Given the description of an element on the screen output the (x, y) to click on. 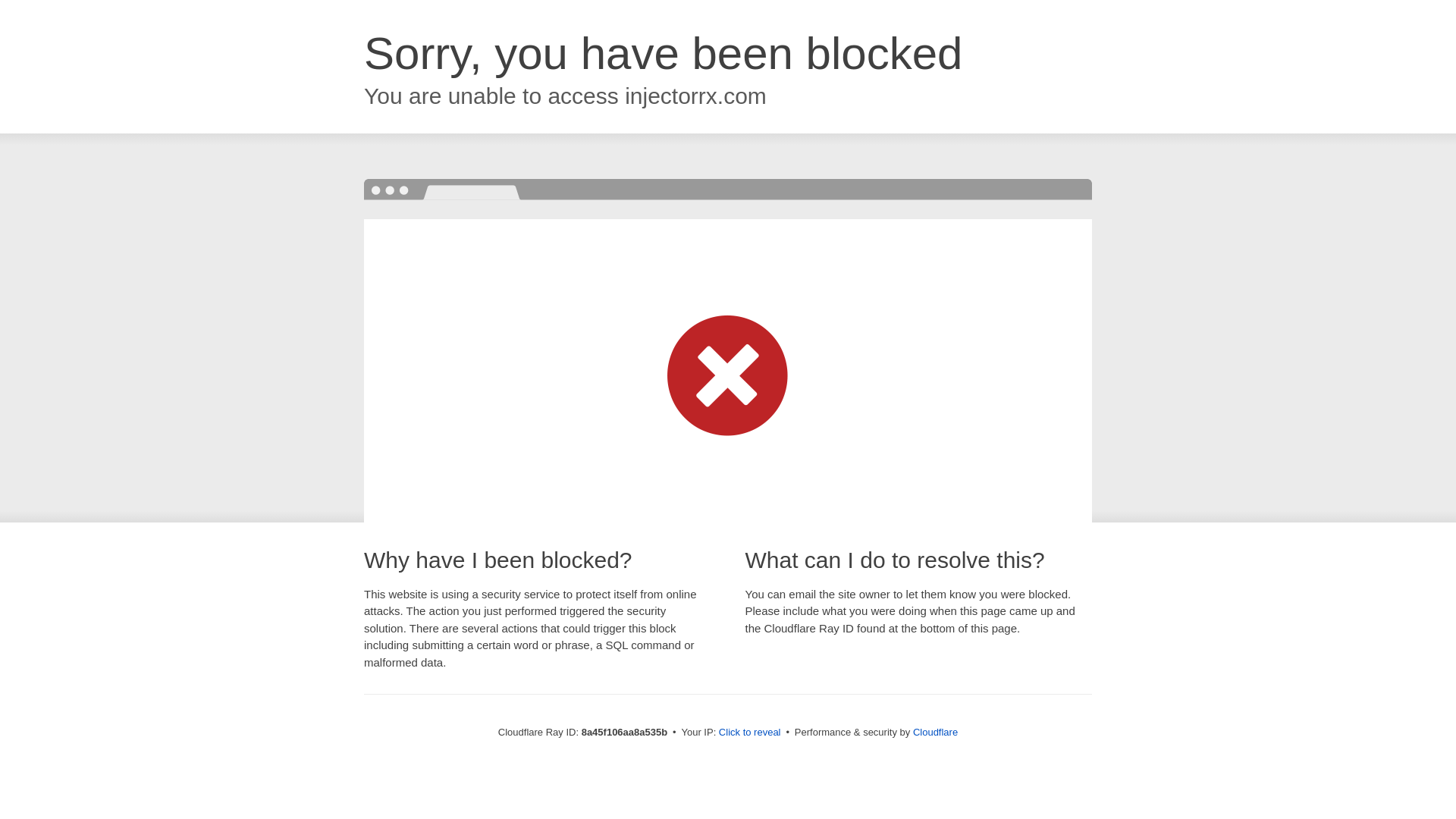
Click to reveal (749, 732)
Cloudflare (935, 731)
